Given the description of an element on the screen output the (x, y) to click on. 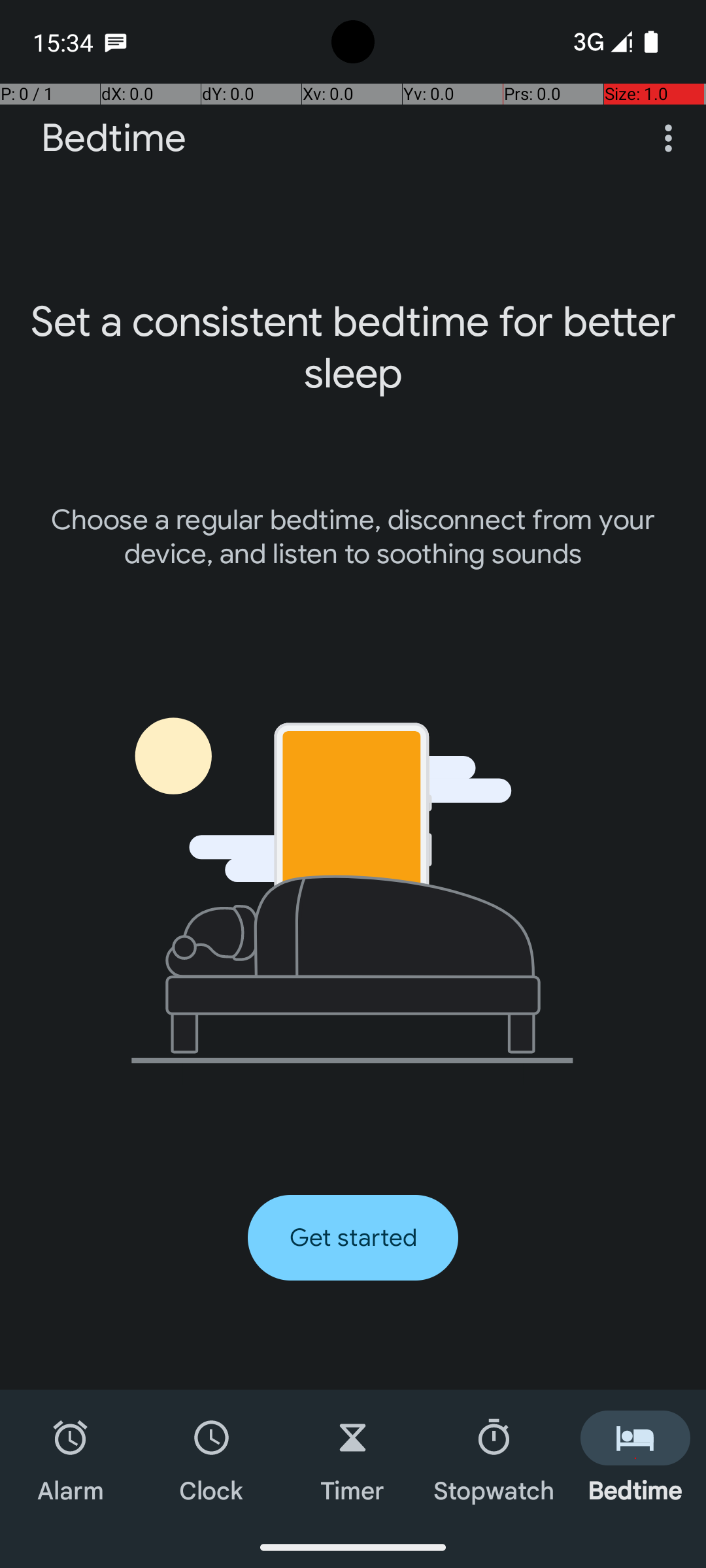
Bedtime Element type: android.widget.TextView (113, 138)
Set a consistent bedtime for better sleep Element type: android.widget.TextView (352, 347)
Choose a regular bedtime, disconnect from your device, and listen to soothing sounds Element type: android.widget.TextView (352, 536)
Get started Element type: android.widget.Button (352, 1237)
Alarm Element type: android.widget.FrameLayout (70, 1457)
Clock Element type: android.widget.FrameLayout (211, 1457)
Timer Element type: android.widget.FrameLayout (352, 1457)
Stopwatch Element type: android.widget.FrameLayout (493, 1457)
SMS Messenger notification: Petar Gonzalez Element type: android.widget.ImageView (115, 41)
